Given the description of an element on the screen output the (x, y) to click on. 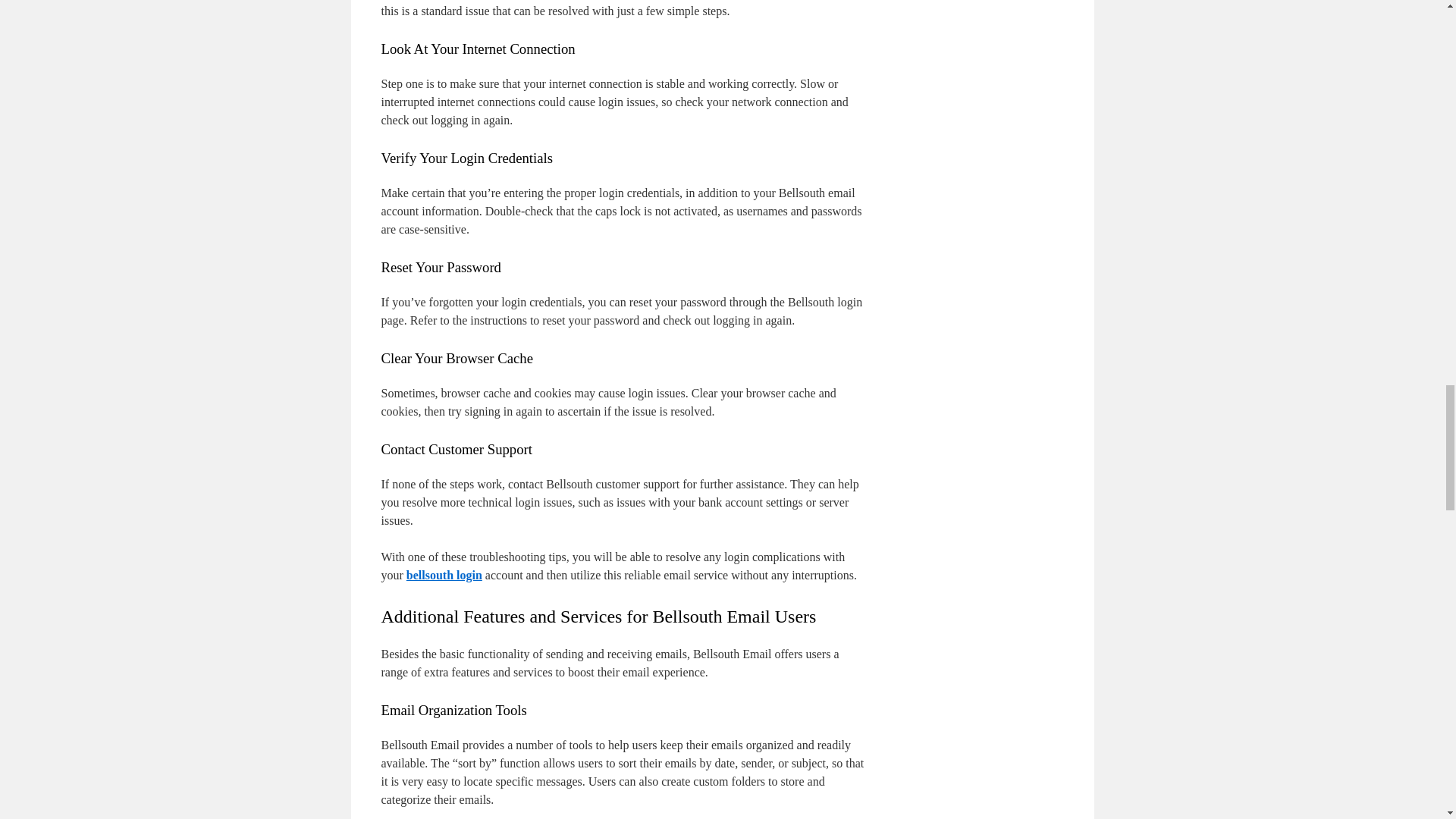
bellsouth login (443, 574)
